Given the description of an element on the screen output the (x, y) to click on. 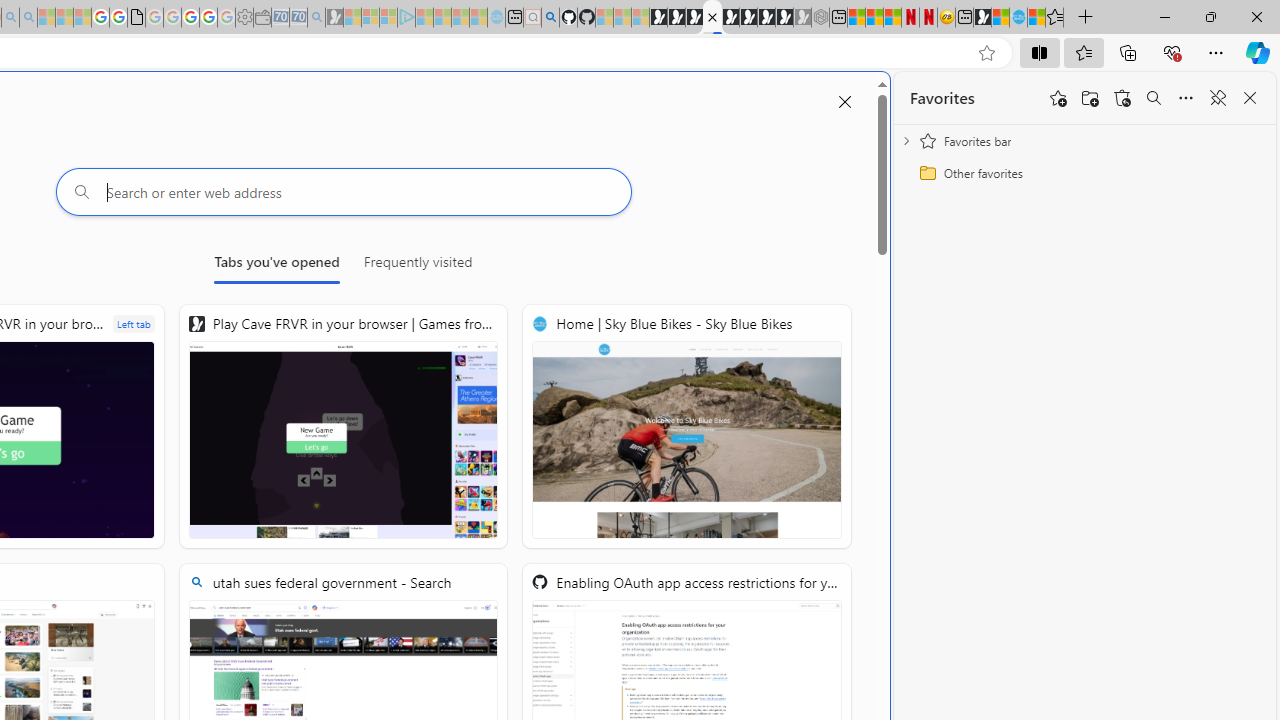
Play Cave FRVR in your browser | Games from Microsoft Start (343, 426)
Microsoft Start Gaming - Sleeping (334, 17)
Home | Sky Blue Bikes - Sky Blue Bikes (1017, 17)
Play Cave FRVR in your browser | Games from Microsoft Start (694, 17)
Home | Sky Blue Bikes - Sky Blue Bikes - Sleeping (496, 17)
